Given the description of an element on the screen output the (x, y) to click on. 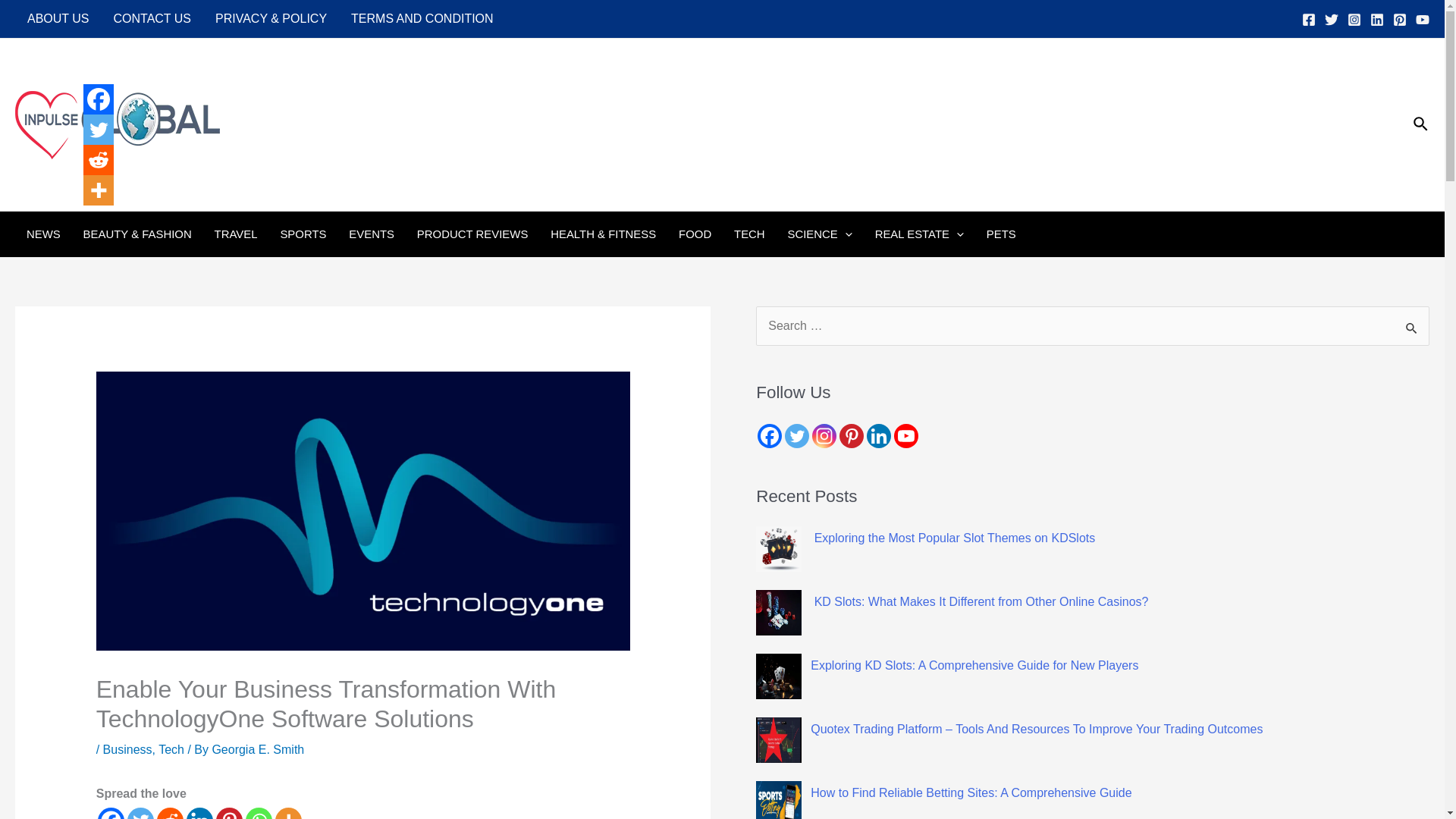
Reddit (97, 159)
TECH (749, 234)
Hide (89, 219)
Pinterest (229, 813)
CONTACT US (152, 18)
Facebook (97, 99)
Linkedin (199, 813)
Advertisement (1121, 169)
Twitter (141, 813)
EVENTS (371, 234)
